Given the description of an element on the screen output the (x, y) to click on. 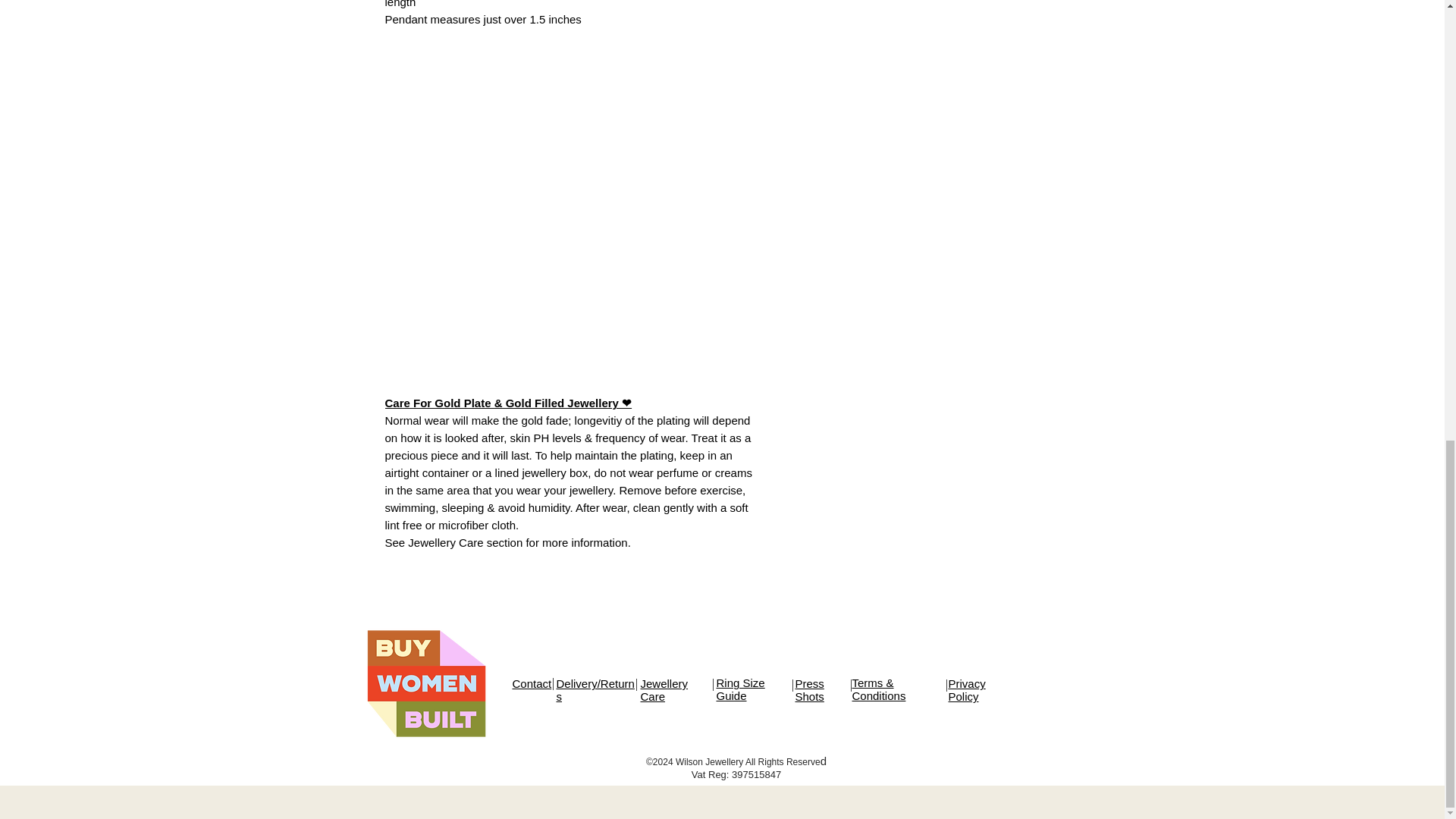
Press Shots (809, 689)
Privacy Policy (966, 689)
Contact (531, 683)
Ring Size Guide (740, 688)
Jewellery Care (663, 689)
